Given the description of an element on the screen output the (x, y) to click on. 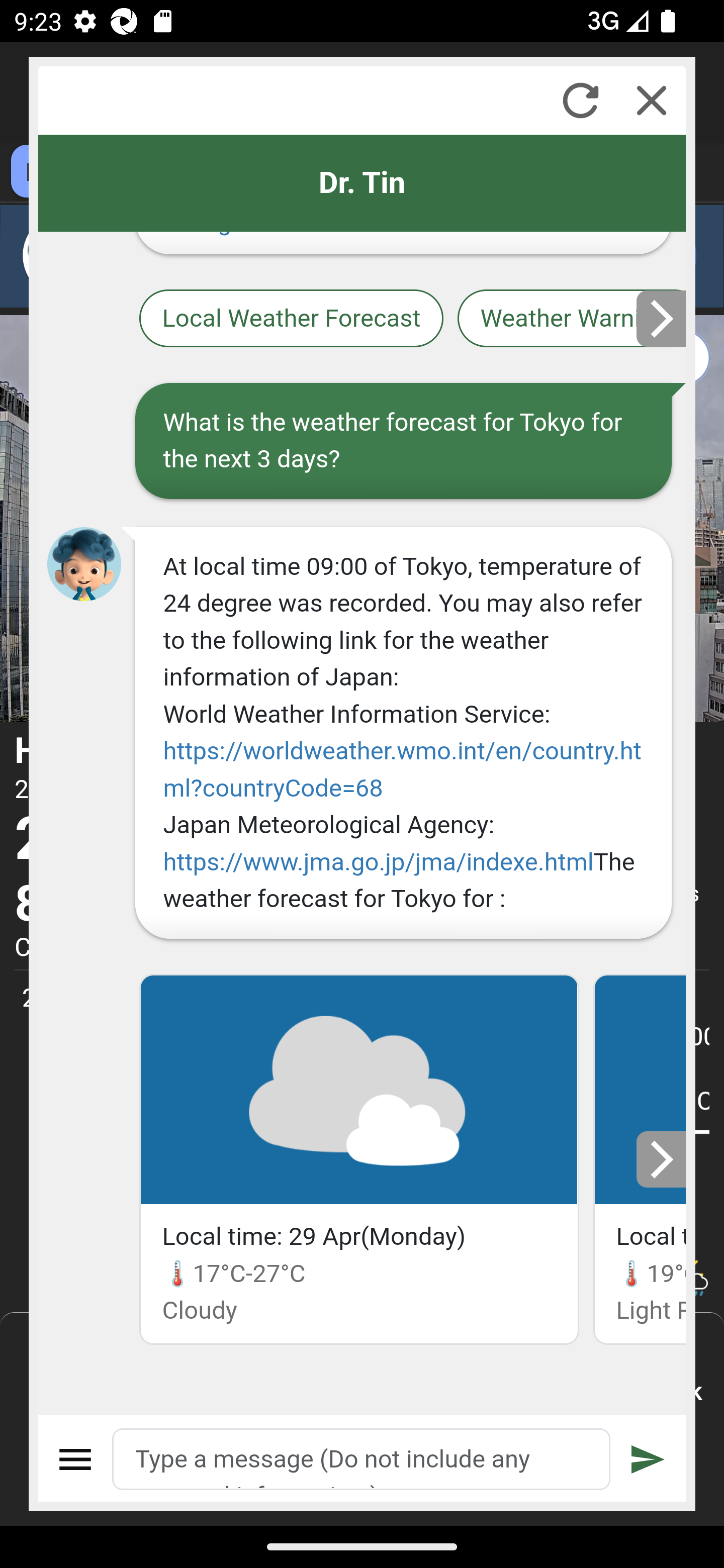
Refresh (580, 100)
Close (651, 100)
Local Weather Forecast (291, 319)
Weather Warnings (571, 319)
Next slide (661, 318)
https://www.jma.go.jp/jma/indexe.html (377, 861)
Next slide (661, 1159)
Menu (75, 1458)
Submit (648, 1458)
